Given the description of an element on the screen output the (x, y) to click on. 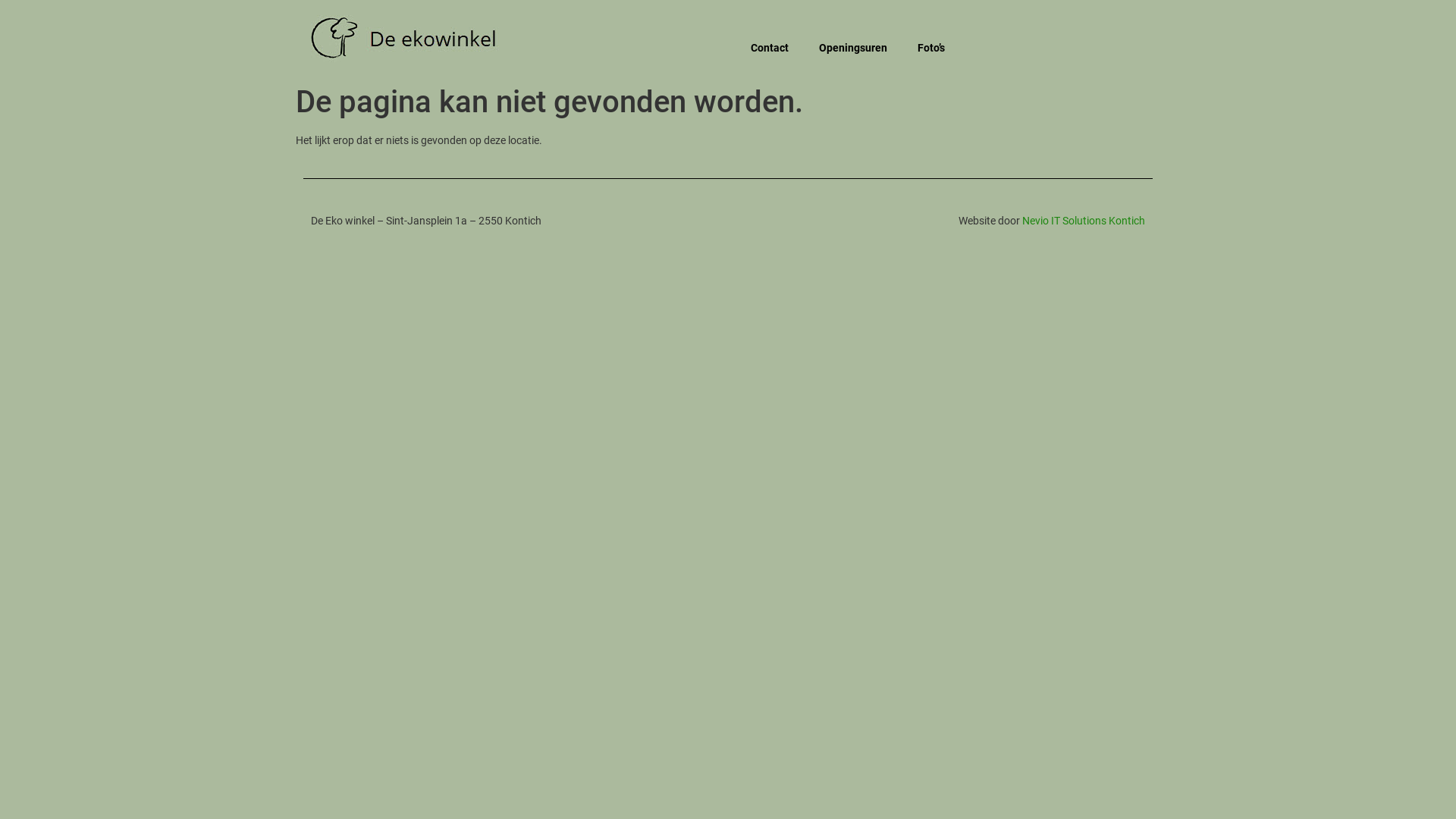
Nevio IT Solutions Kontich Element type: text (1083, 220)
Contact Element type: text (769, 47)
Openingsuren Element type: text (852, 47)
